Given the description of an element on the screen output the (x, y) to click on. 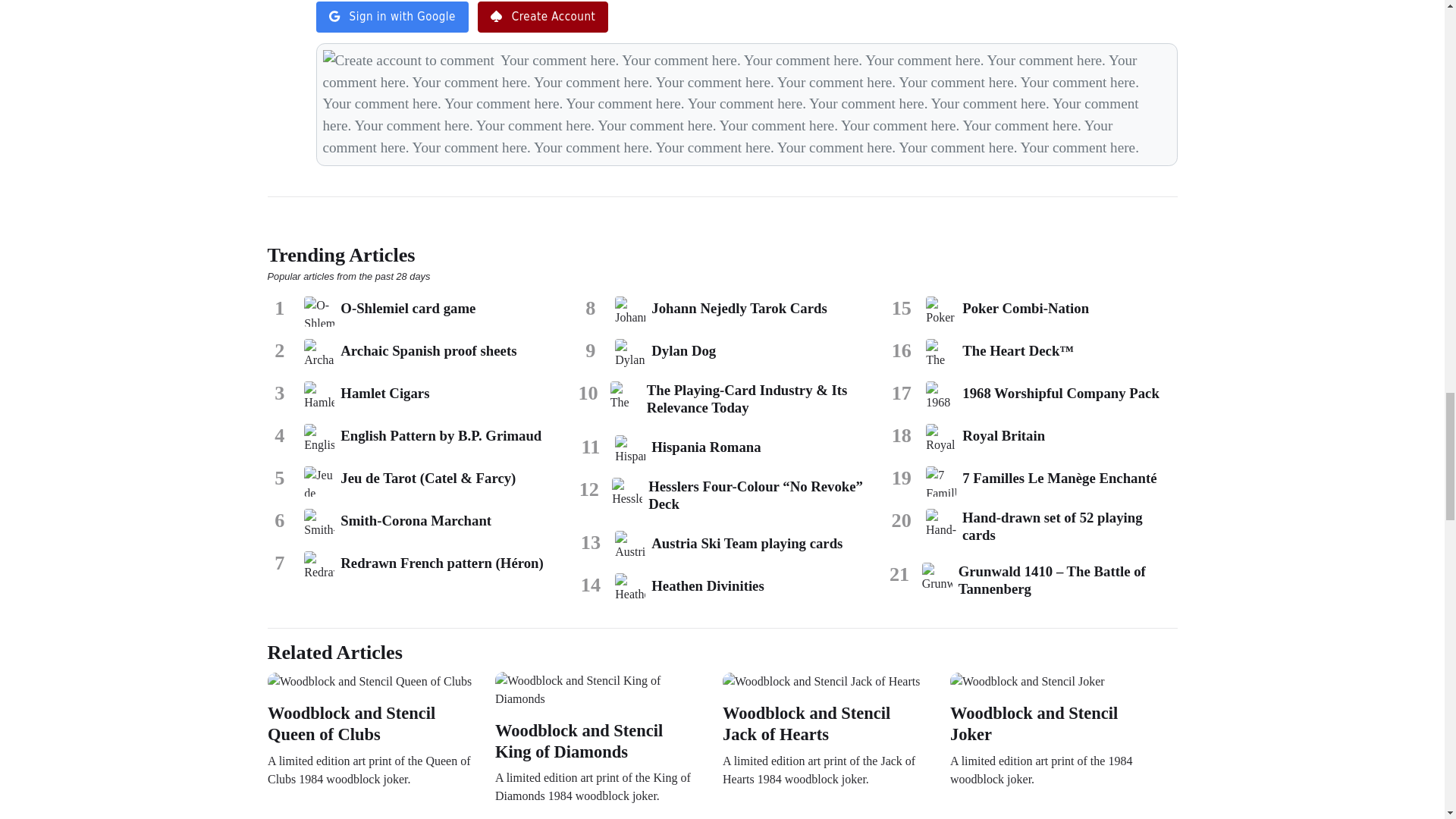
Hamlet Cigars (319, 396)
O-Shlemiel card game (319, 311)
Hispania Romana (629, 450)
Archaic Spanish proof sheets (319, 354)
Johann Nejedly Tarok Cards (629, 311)
Dylan Dog (629, 354)
English Pattern by B.P. Grimaud (319, 439)
Smith-Corona Marchant (319, 523)
